Given the description of an element on the screen output the (x, y) to click on. 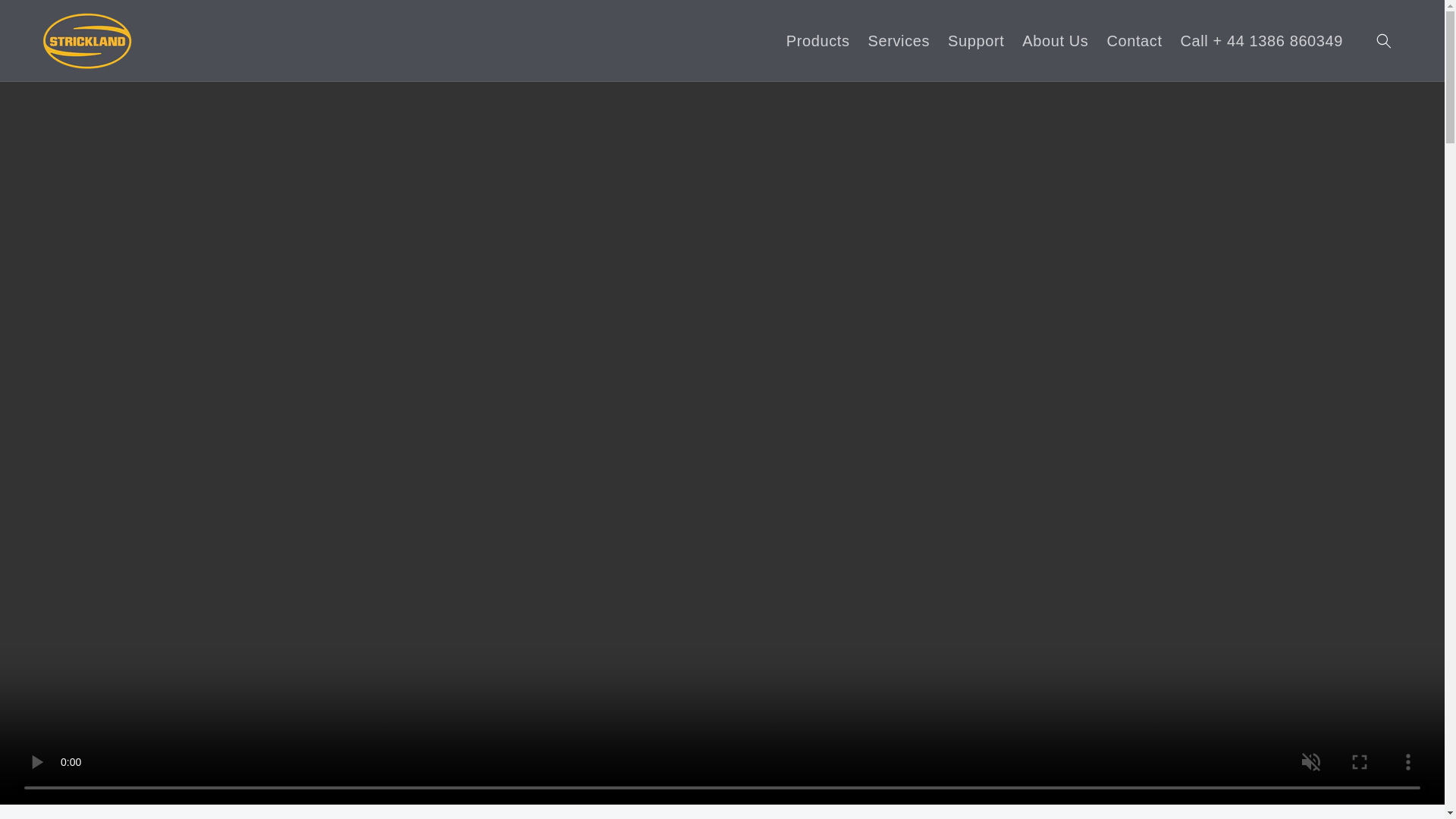
Contact (1133, 39)
Support (976, 39)
Services (899, 39)
About Us (1055, 39)
Products (818, 39)
Skip to content (45, 16)
